Given the description of an element on the screen output the (x, y) to click on. 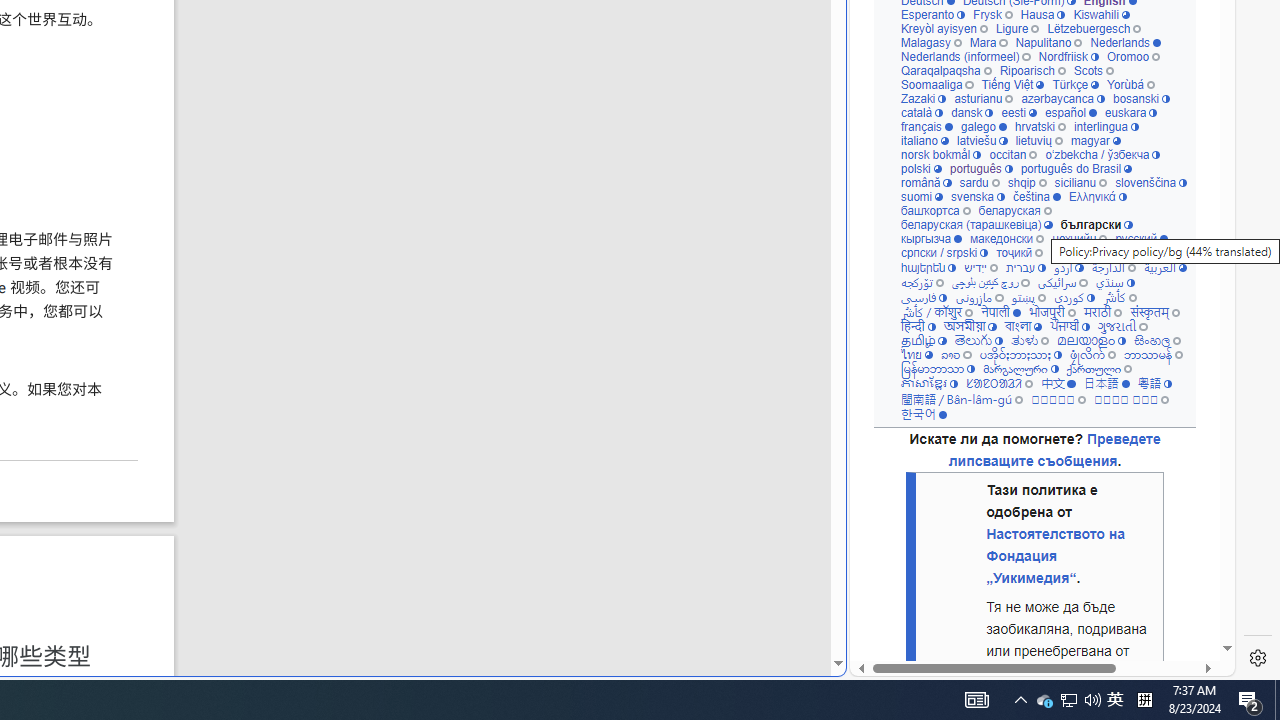
Ligure (1016, 28)
eesti (1018, 112)
